Given the description of an element on the screen output the (x, y) to click on. 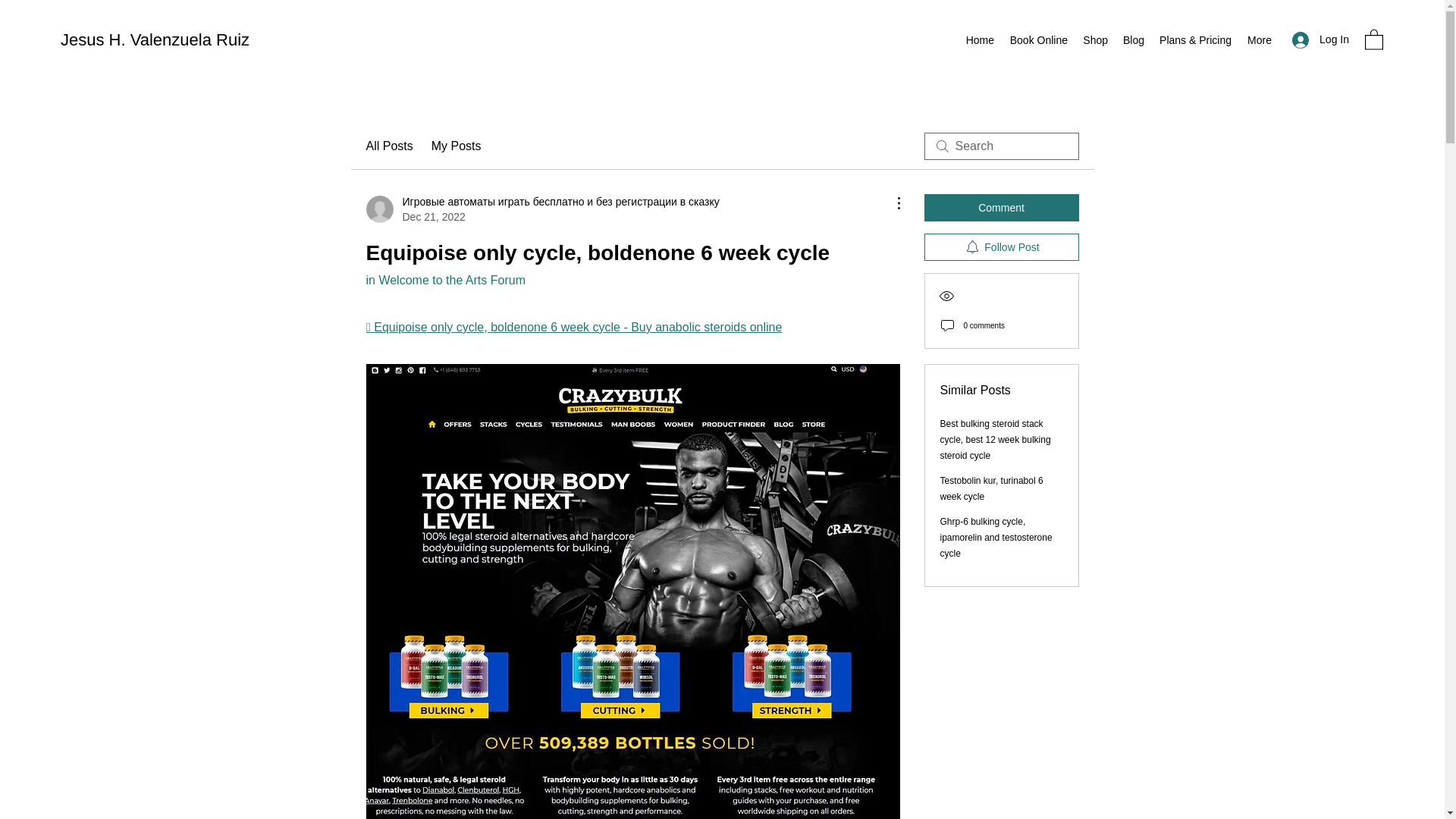
Jesus H. Valenzuela Ruiz (154, 39)
Log In (1320, 39)
Shop (1095, 39)
Home (979, 39)
in Welcome to the Arts Forum (444, 279)
My Posts (455, 146)
Blog (1133, 39)
Book Online (1038, 39)
All Posts (388, 146)
